Given the description of an element on the screen output the (x, y) to click on. 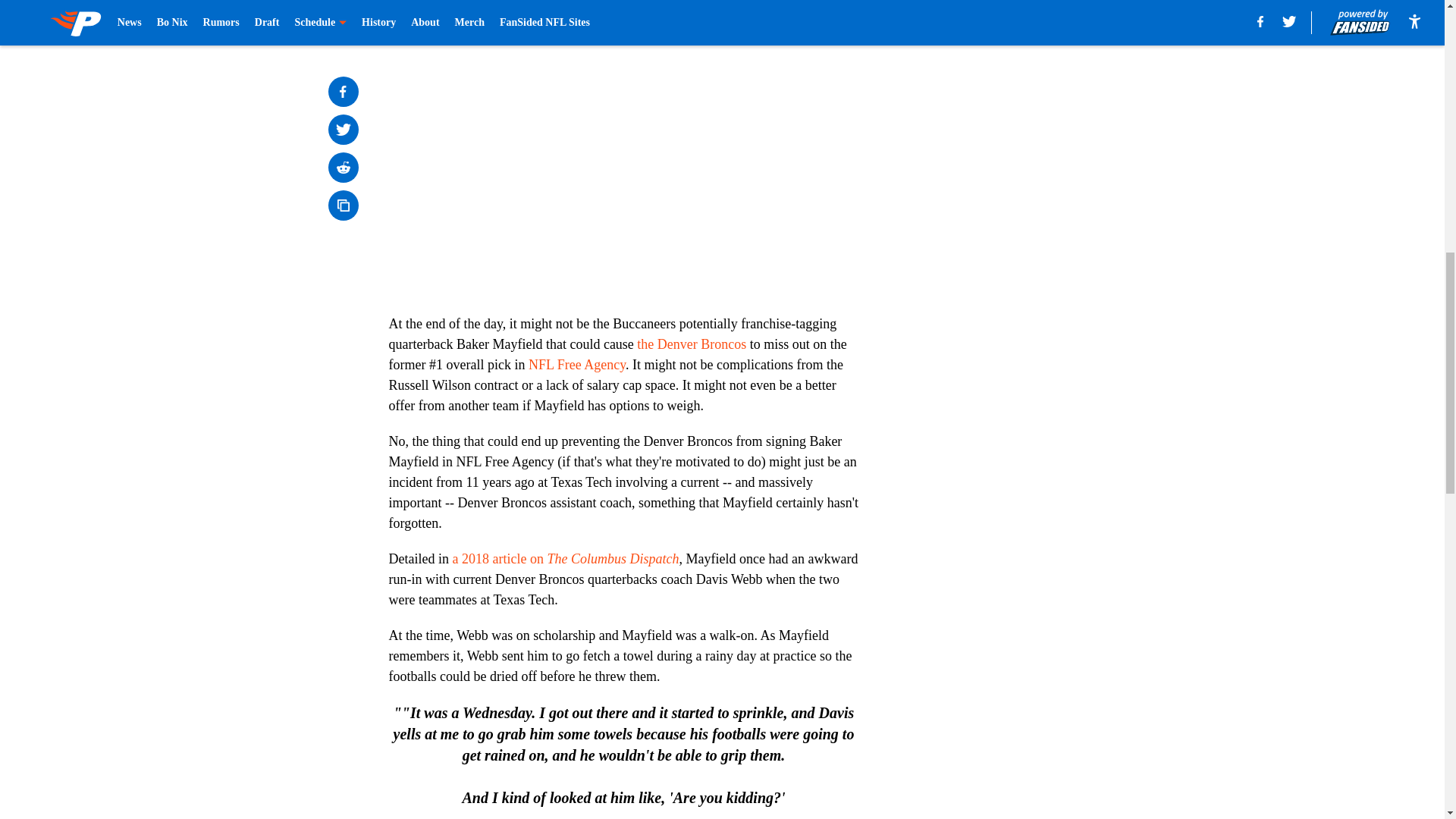
a 2018 article on The Columbus Dispatch (564, 558)
NFL Free Agency (577, 364)
the Denver Broncos (691, 344)
